Given the description of an element on the screen output the (x, y) to click on. 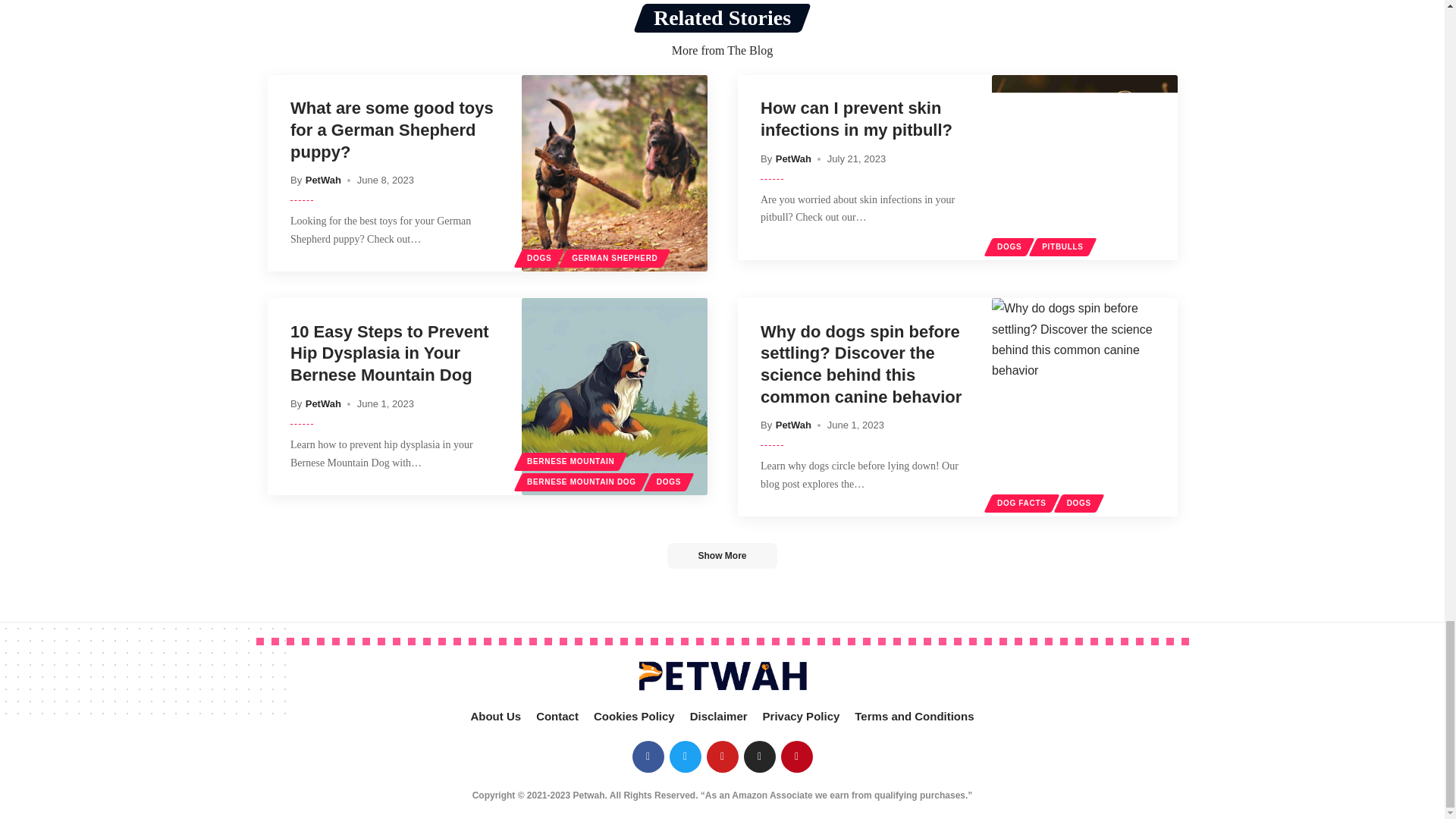
How can I prevent skin infections in my pitbull? (1084, 168)
What are some good toys for a German Shepherd puppy? (614, 173)
